Given the description of an element on the screen output the (x, y) to click on. 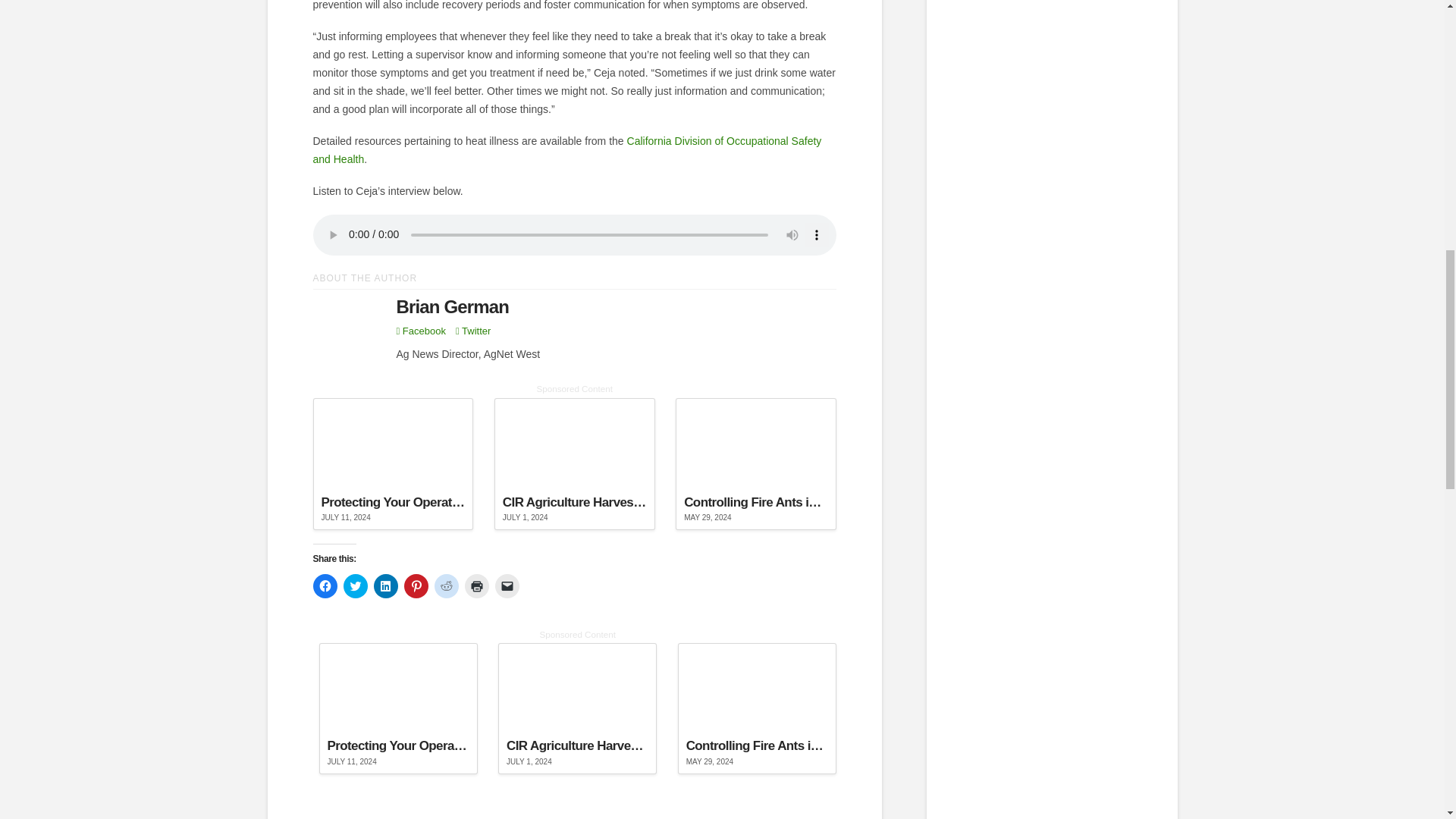
Click to share on Pinterest (415, 586)
Click to share on Facebook (324, 586)
Permalink to: "CIR Agriculture Harvester Products" (575, 463)
Visit the Twitter Profile for Brian German (472, 330)
Visit the Facebook Profile for Brian German (420, 330)
Permalink to: "Controlling Fire Ants in Almond Orchards" (755, 463)
Click to share on Reddit (445, 586)
Click to share on LinkedIn (384, 586)
Click to print (475, 586)
